Given the description of an element on the screen output the (x, y) to click on. 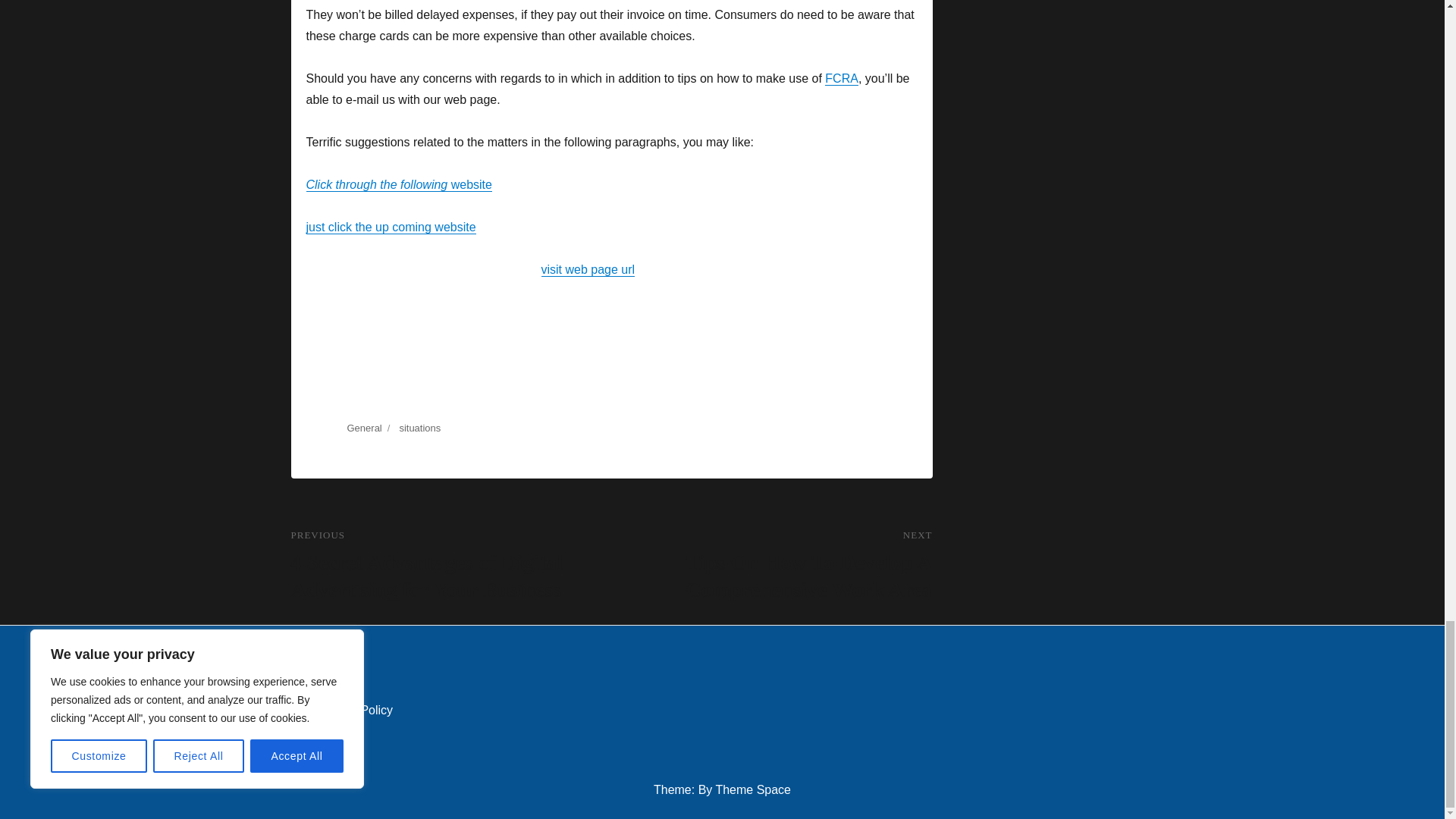
General (364, 428)
visit web page url (587, 269)
just click the up coming website (390, 226)
situations (419, 428)
FCRA (842, 78)
Click through the following website (398, 184)
